Given the description of an element on the screen output the (x, y) to click on. 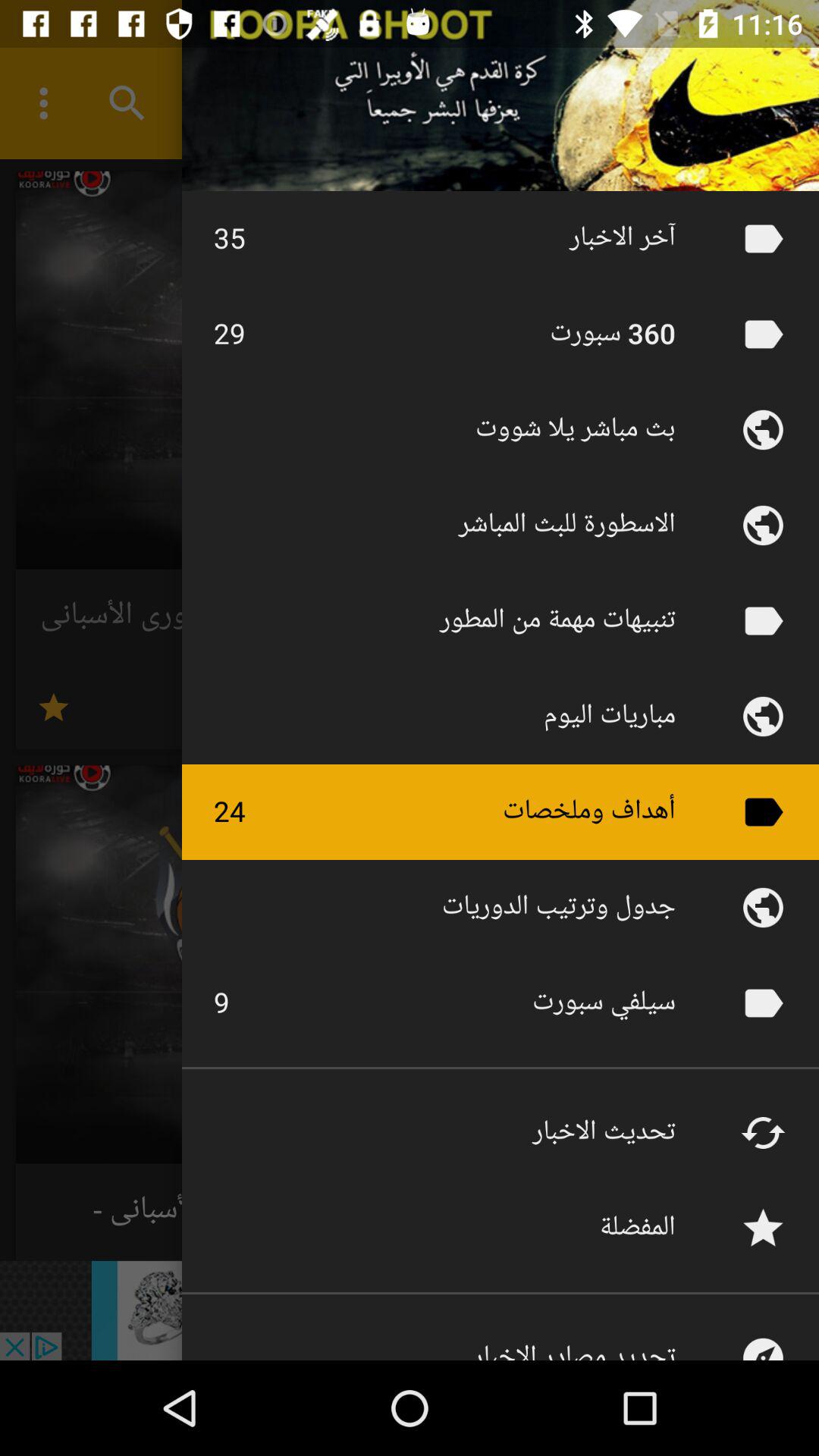
click the button above the refresh button on the web page (763, 1003)
select the 5th button from top right side of the web page and right to some text (763, 620)
